Given the description of an element on the screen output the (x, y) to click on. 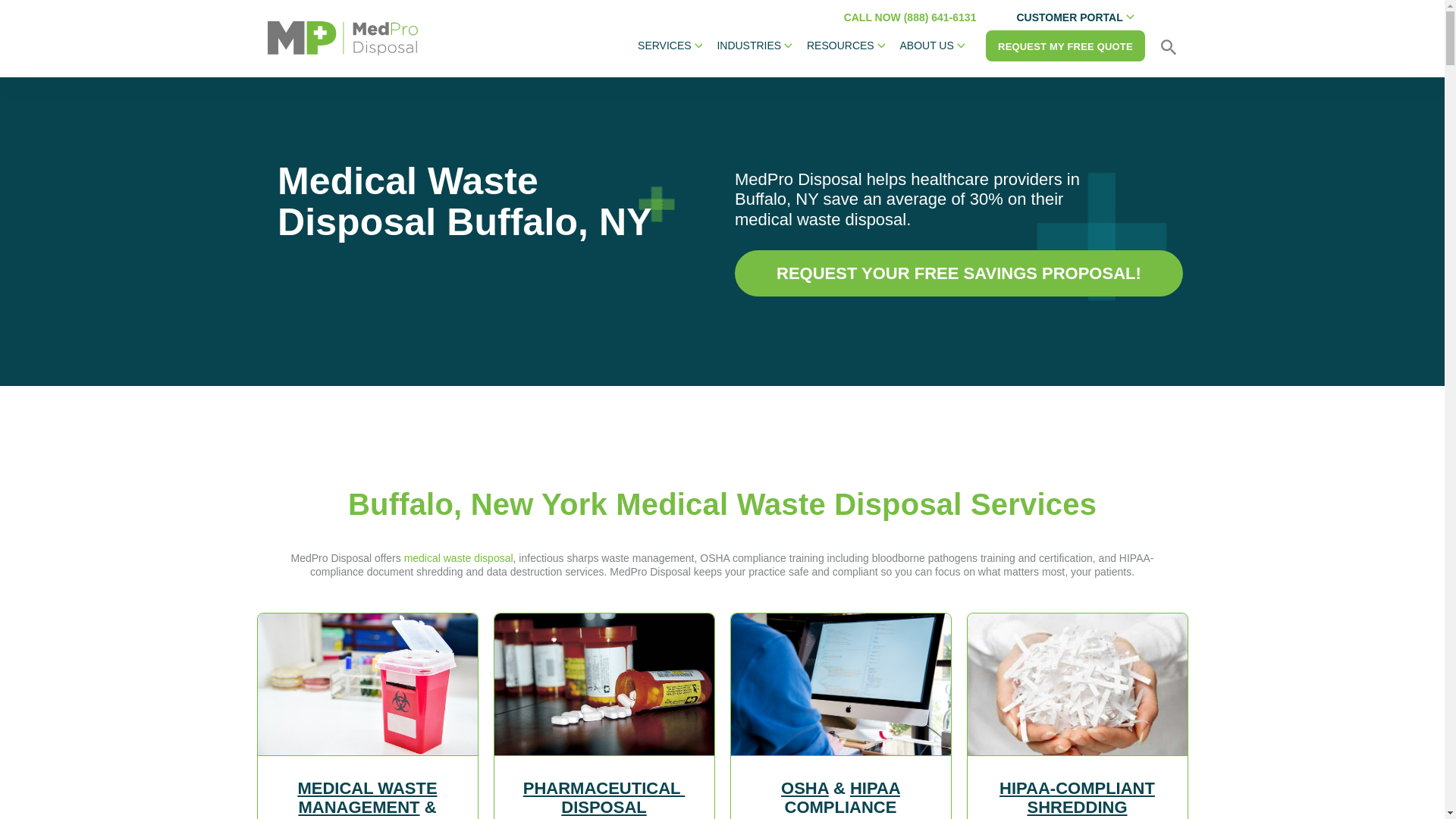
RESOURCES (845, 44)
INDUSTRIES (754, 44)
SERVICES (670, 44)
ABOUT US (932, 44)
CUSTOMER PORTAL (1075, 17)
